Given the description of an element on the screen output the (x, y) to click on. 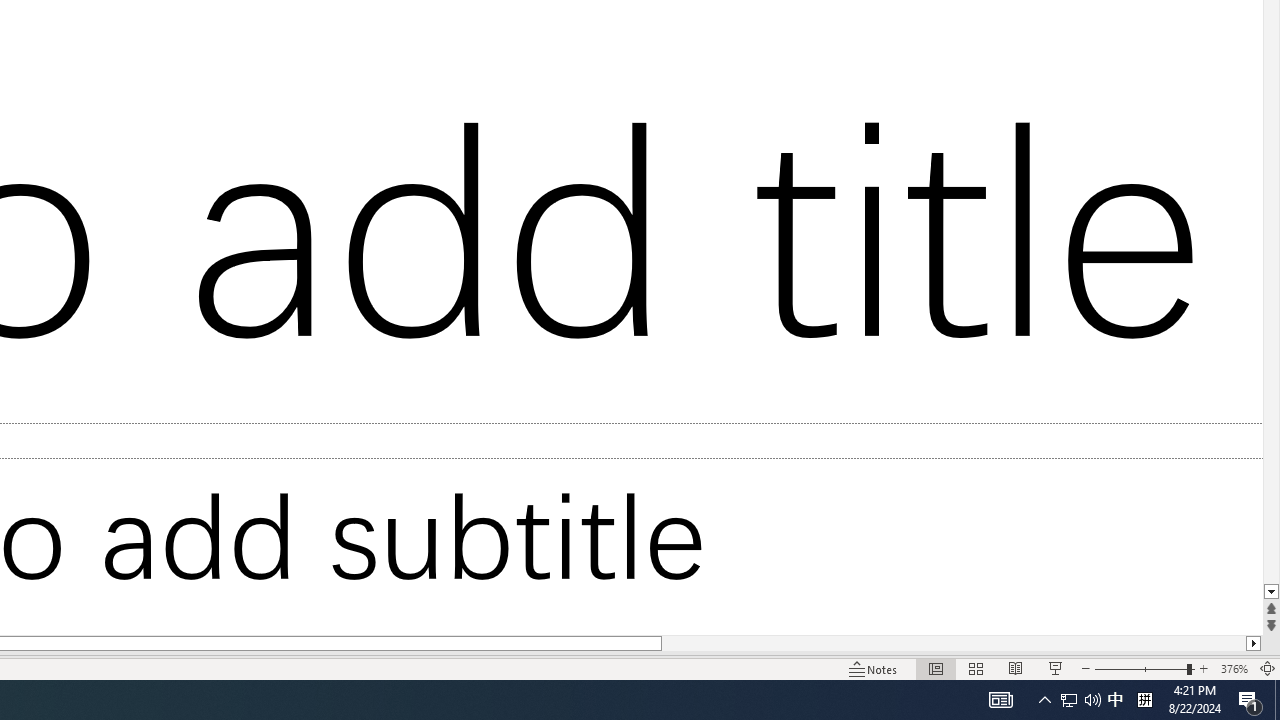
Disable Linked Styles (1094, 556)
Subtle Reference (1130, 83)
List Paragraph (1130, 169)
Intense Quote (1130, 54)
Page down (966, 486)
Class: NetUIButton (1119, 592)
Book Title (1130, 140)
Intense Reference (1130, 111)
